Given the description of an element on the screen output the (x, y) to click on. 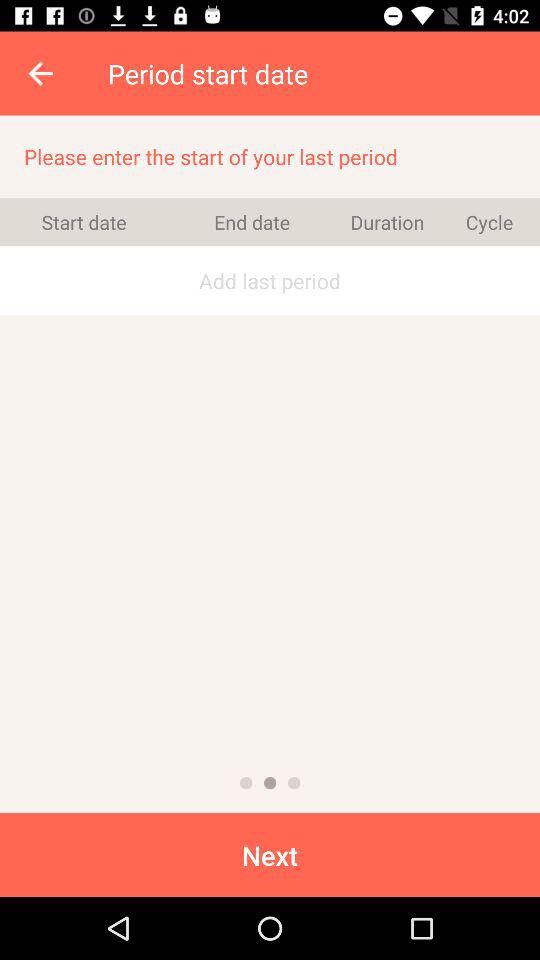
choose the item below the add last period item (246, 782)
